Given the description of an element on the screen output the (x, y) to click on. 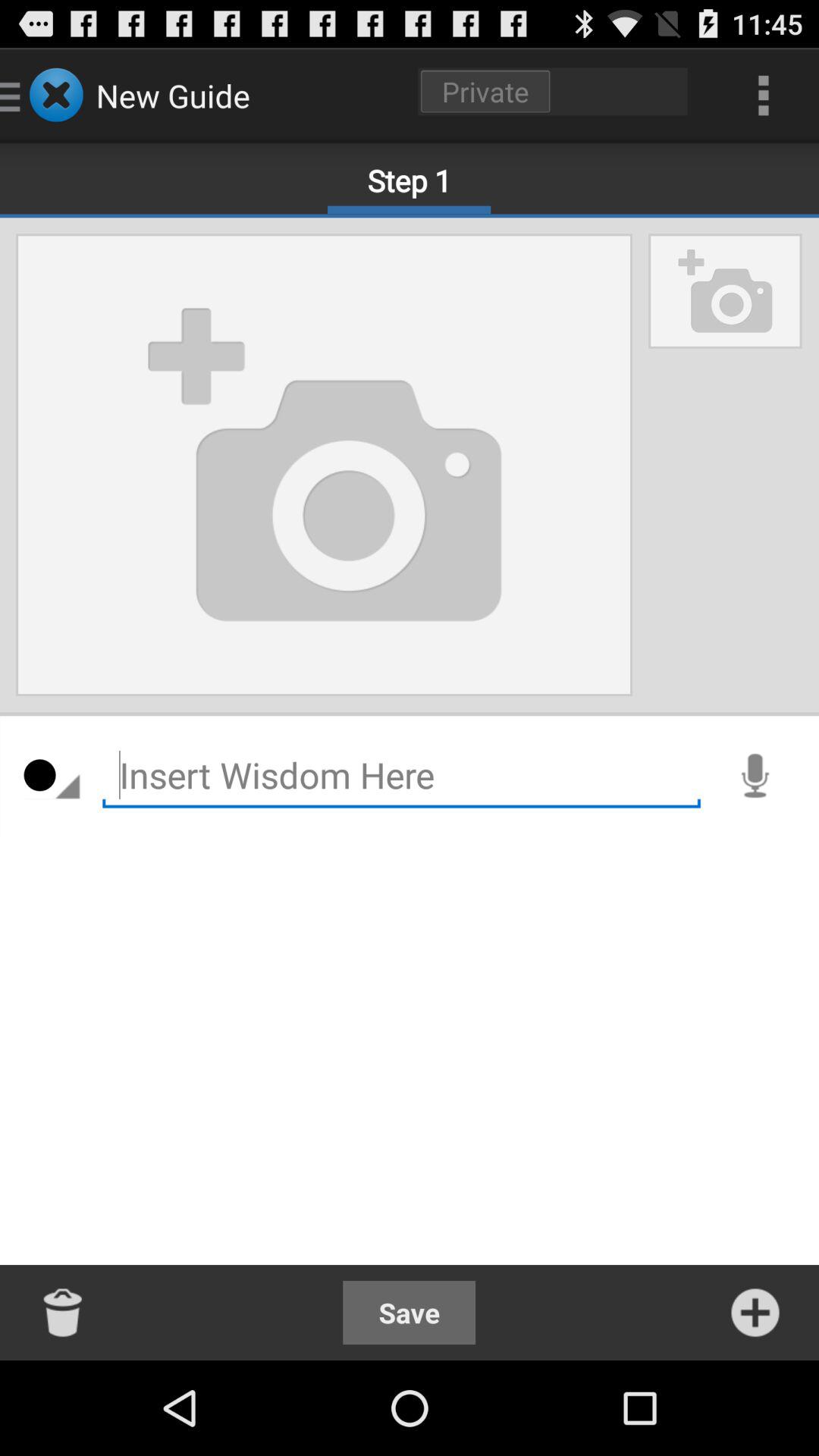
turn on item at the bottom left corner (63, 1312)
